Given the description of an element on the screen output the (x, y) to click on. 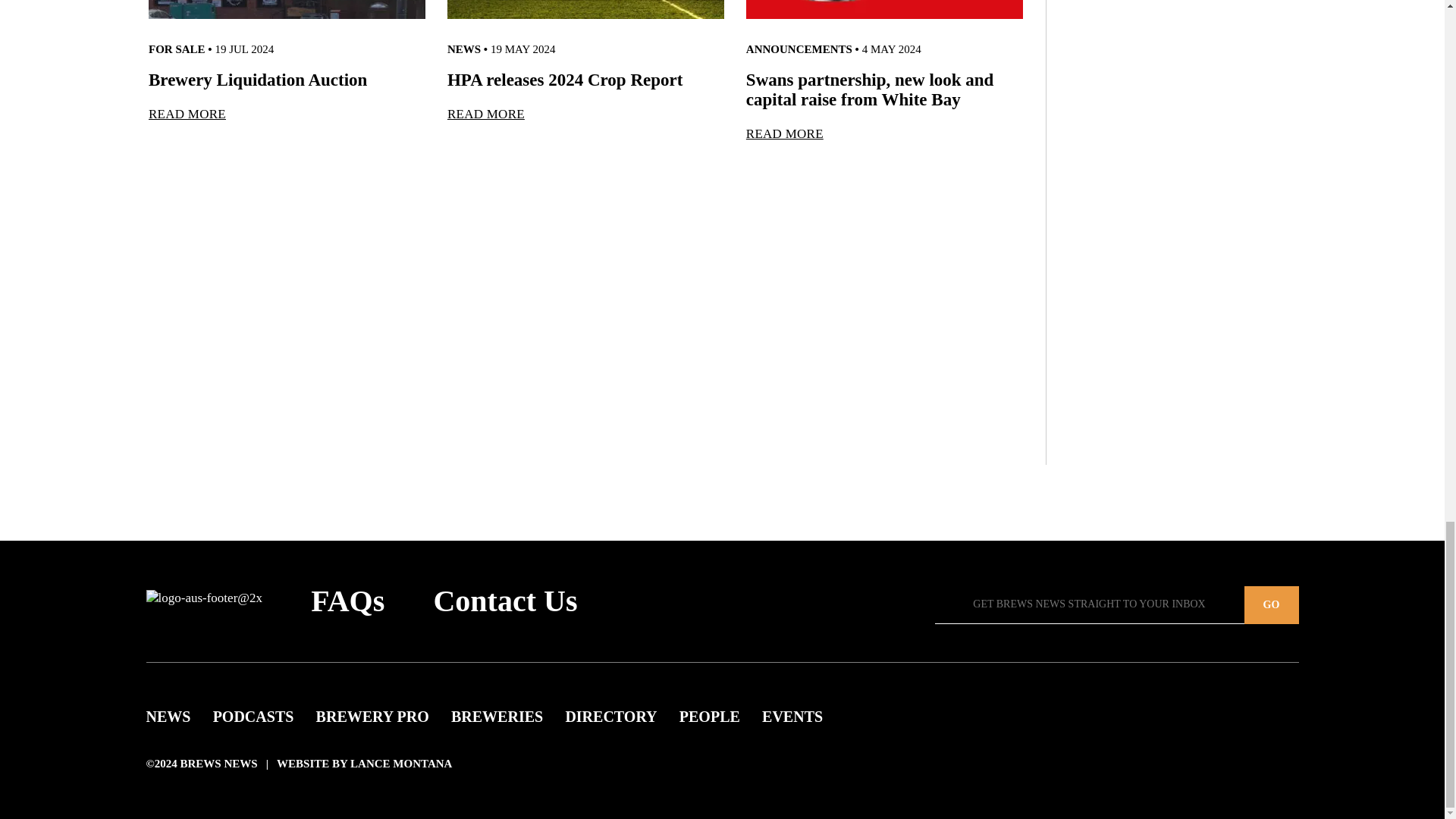
Go (1270, 605)
